Given the description of an element on the screen output the (x, y) to click on. 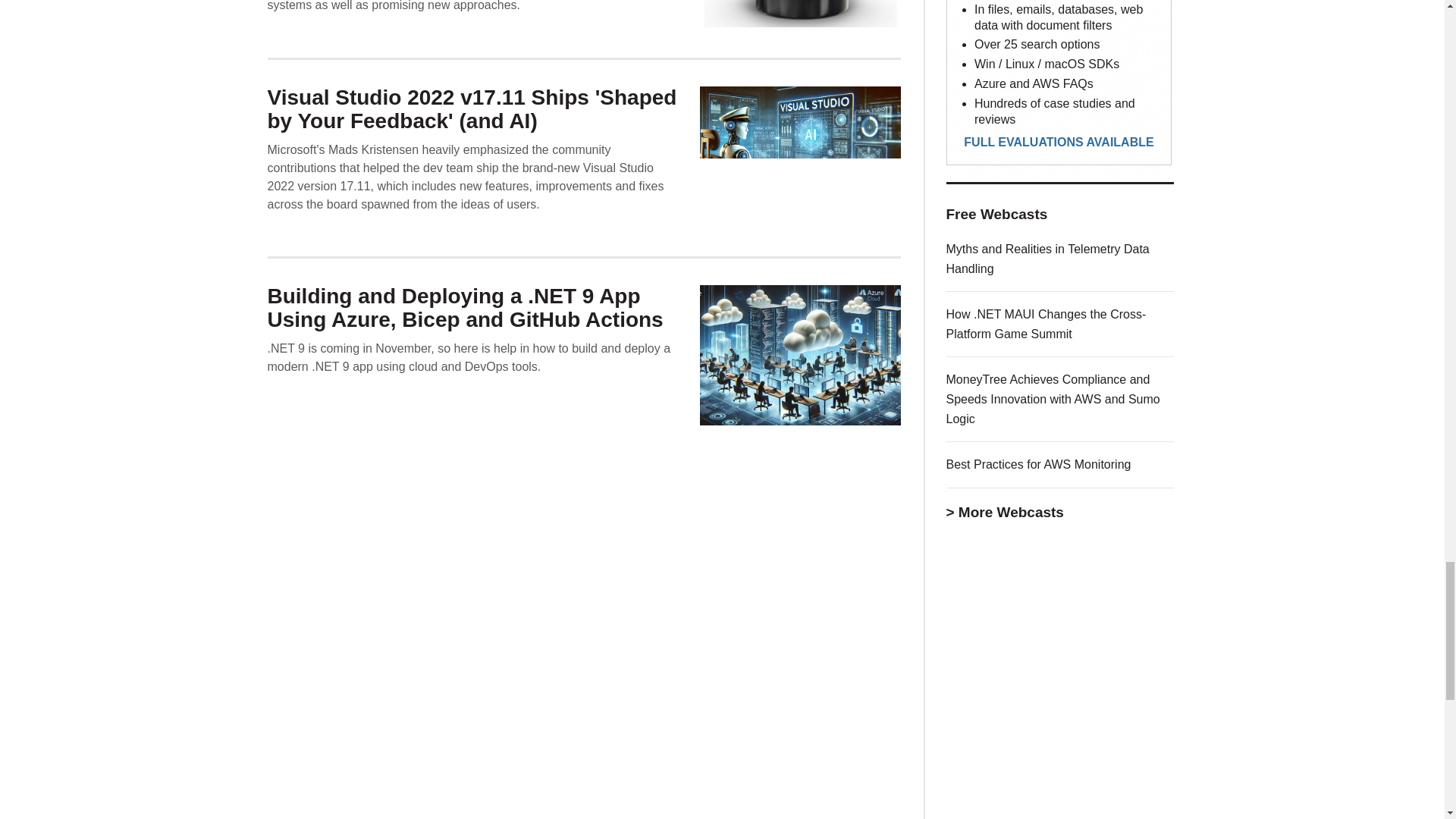
3rd party ad content (1059, 669)
3rd party ad content (1059, 90)
3rd party ad content (1059, 810)
